Given the description of an element on the screen output the (x, y) to click on. 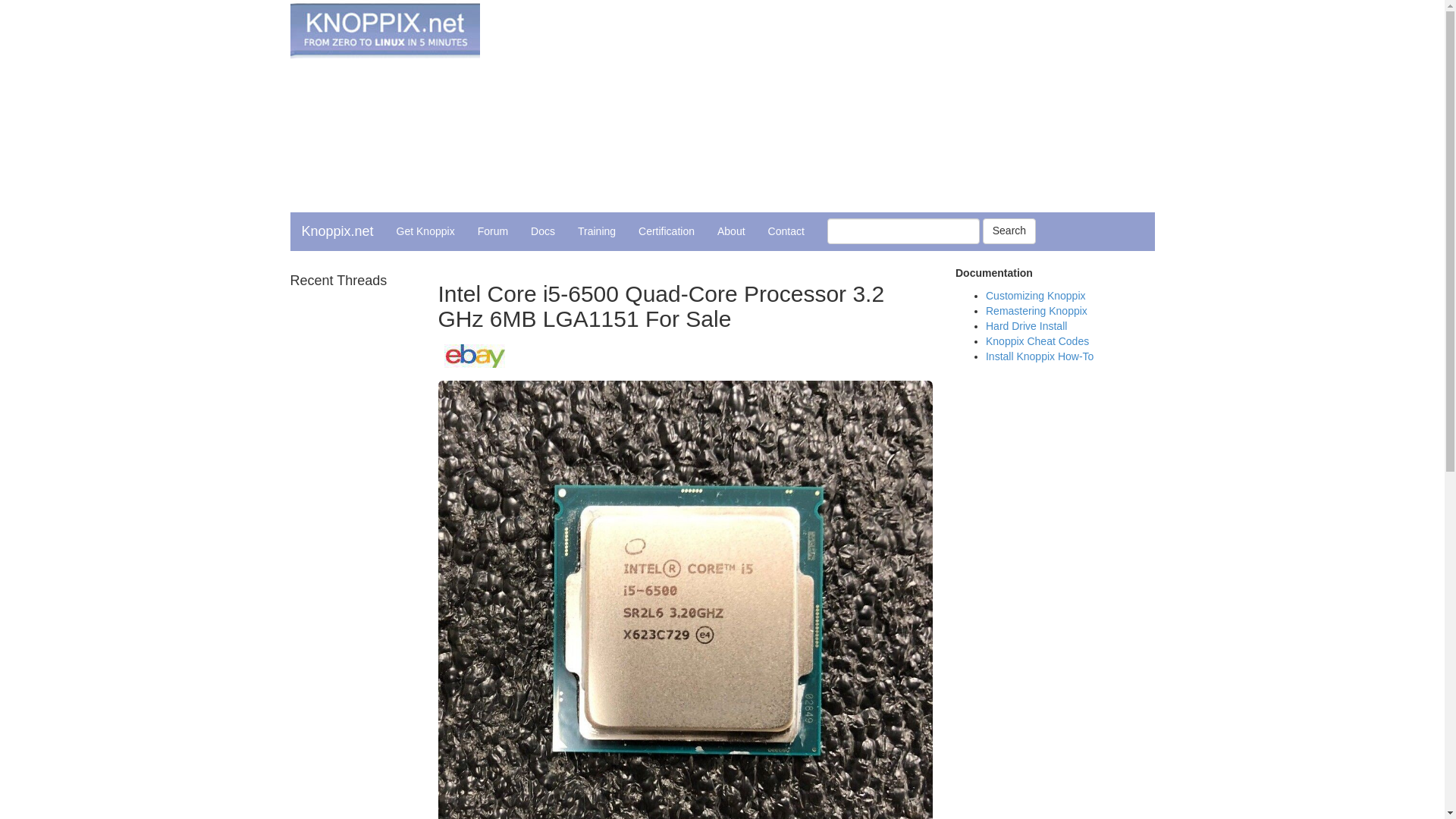
About (731, 231)
Customizing Knoppix (1035, 295)
Search (1008, 231)
Docs (542, 231)
Hard Drive Install (1026, 326)
Knoppix.net (336, 231)
Certification (666, 231)
Install Knoppix How-To (1039, 356)
Remastering Knoppix (1036, 310)
Training (596, 231)
